Given the description of an element on the screen output the (x, y) to click on. 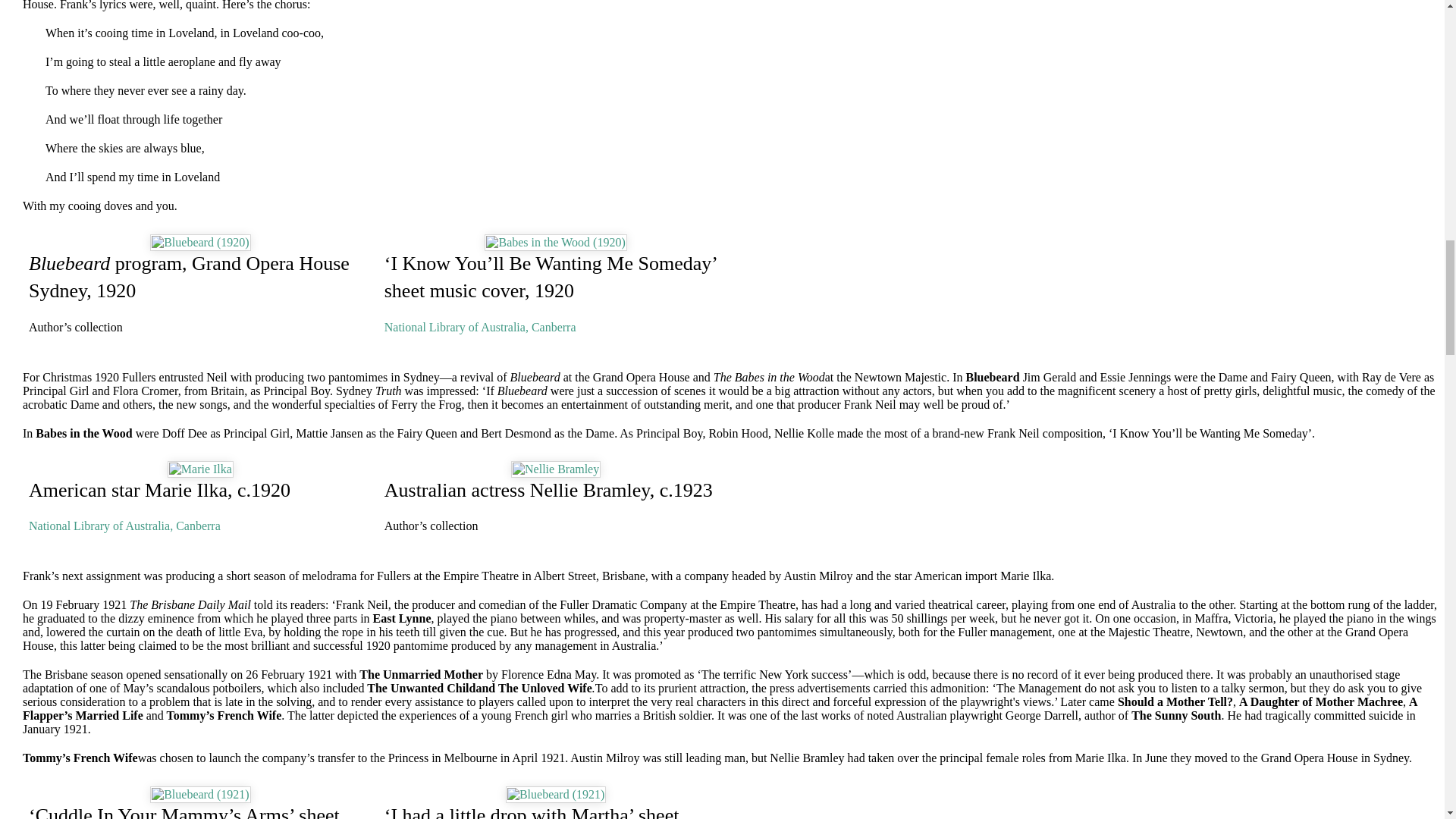
Nellie Bramley (555, 468)
Marie Ilka (200, 468)
